Given the description of an element on the screen output the (x, y) to click on. 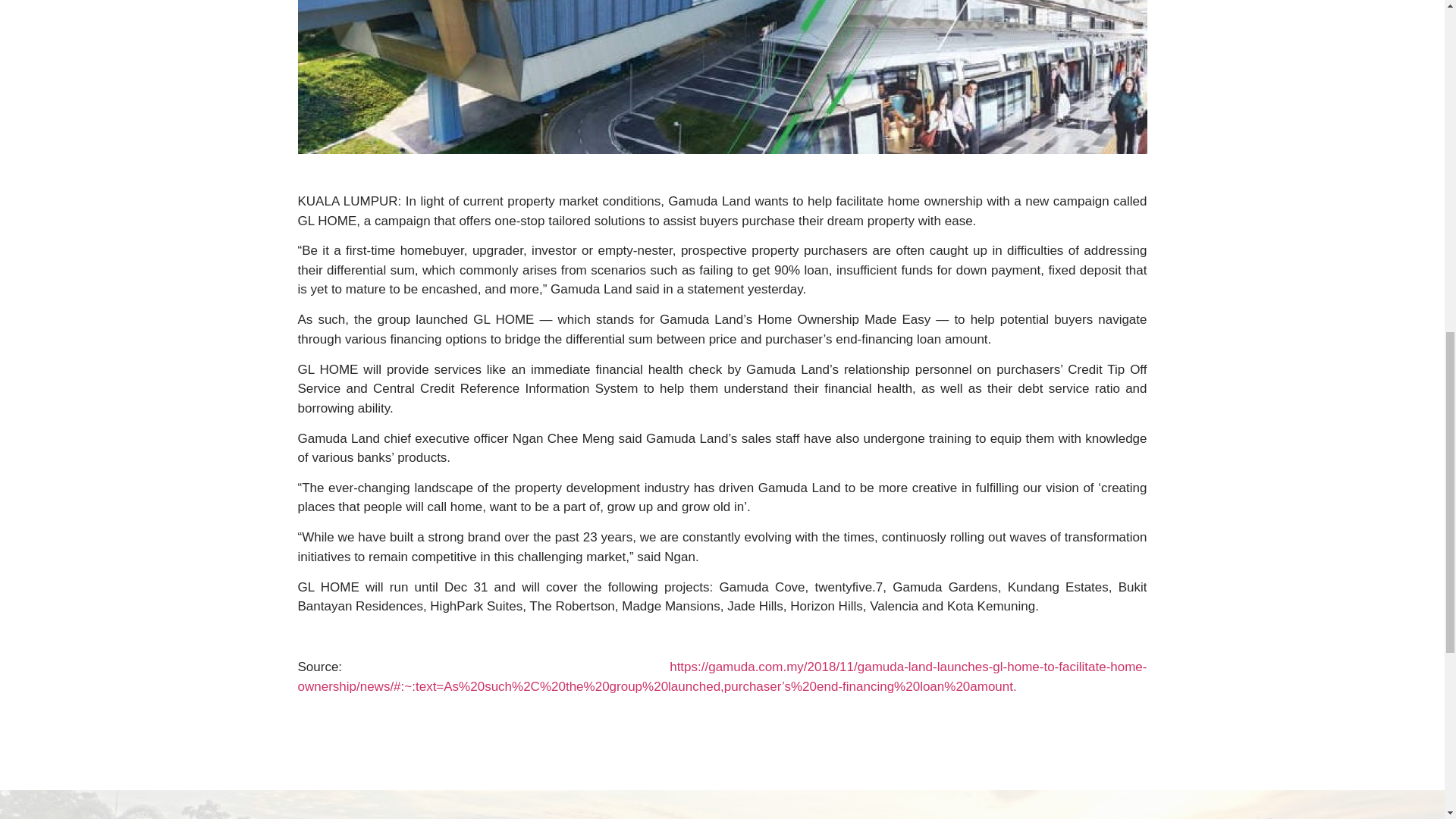
Gamuda-Land-launches-GL-HOME-to-facilitate-home-ownership (722, 76)
